Given the description of an element on the screen output the (x, y) to click on. 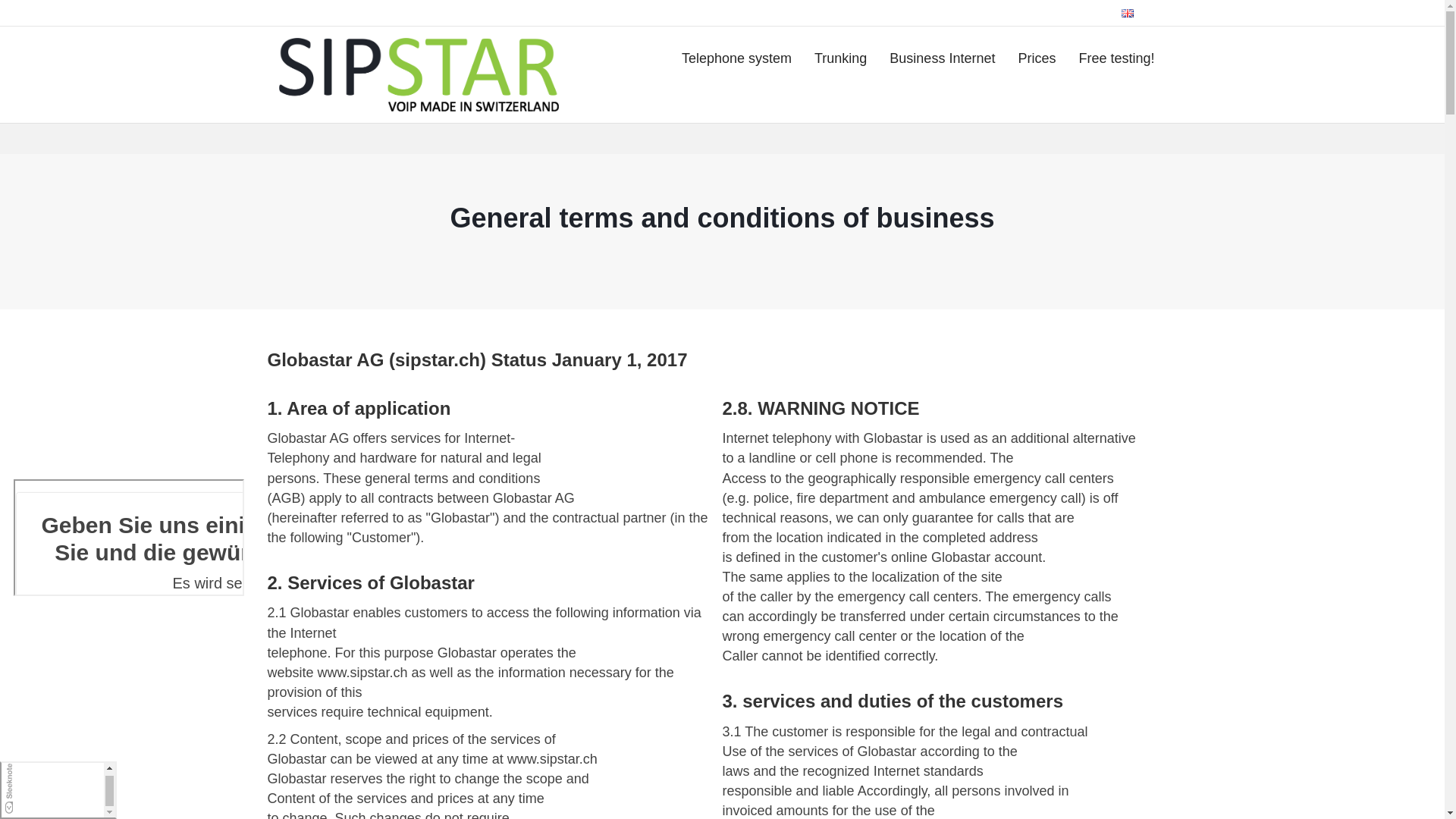
Login (1092, 13)
Company (897, 13)
Trunking (840, 58)
Support (950, 13)
Business Internet (941, 58)
Free testing! (1116, 58)
English (1143, 13)
Telephone system (736, 58)
Prices (1036, 58)
Contact us by Email (319, 13)
Call us on 044 505 91 10 (427, 13)
